Given the description of an element on the screen output the (x, y) to click on. 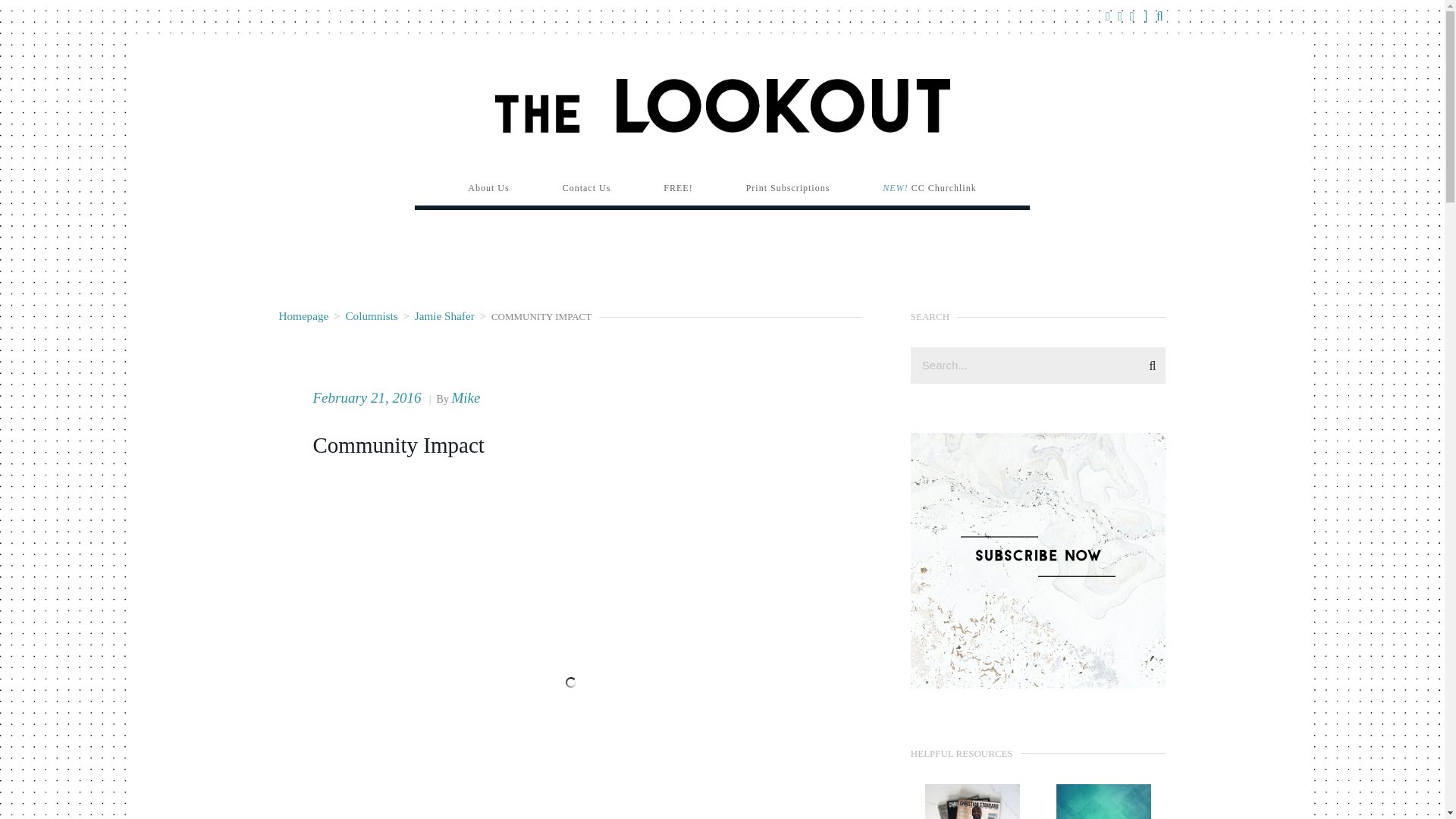
Contact Us (586, 187)
NEW! CC Churchlink (928, 187)
Homepage (304, 315)
Posts by Mike (465, 397)
About Us (487, 187)
Jamie Shafer (444, 315)
Print Subscriptions (787, 187)
Columnists (371, 315)
February 21, 2016 (369, 397)
Mike (465, 397)
